Given the description of an element on the screen output the (x, y) to click on. 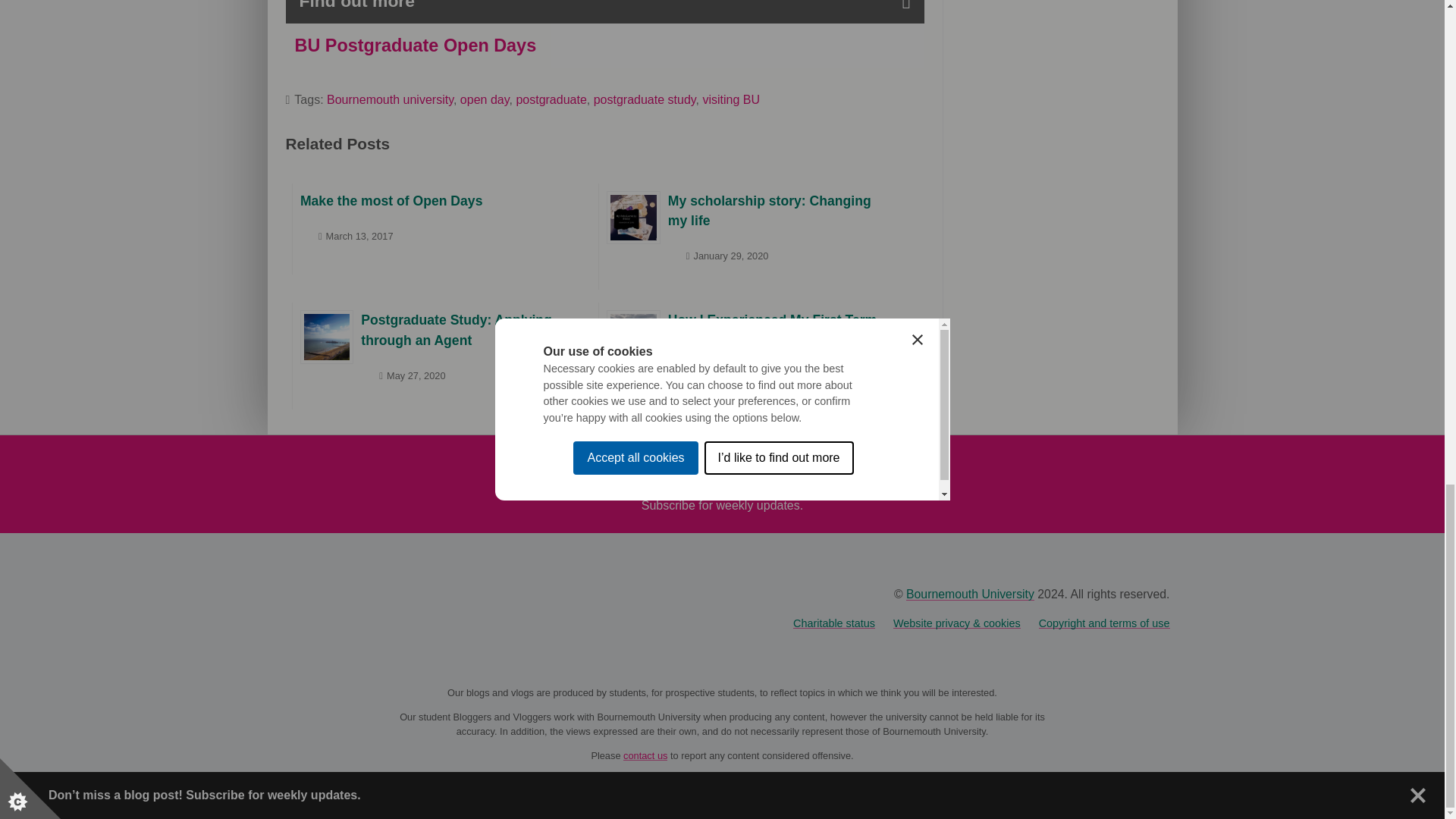
Bournemouth University homepage (969, 594)
